Given the description of an element on the screen output the (x, y) to click on. 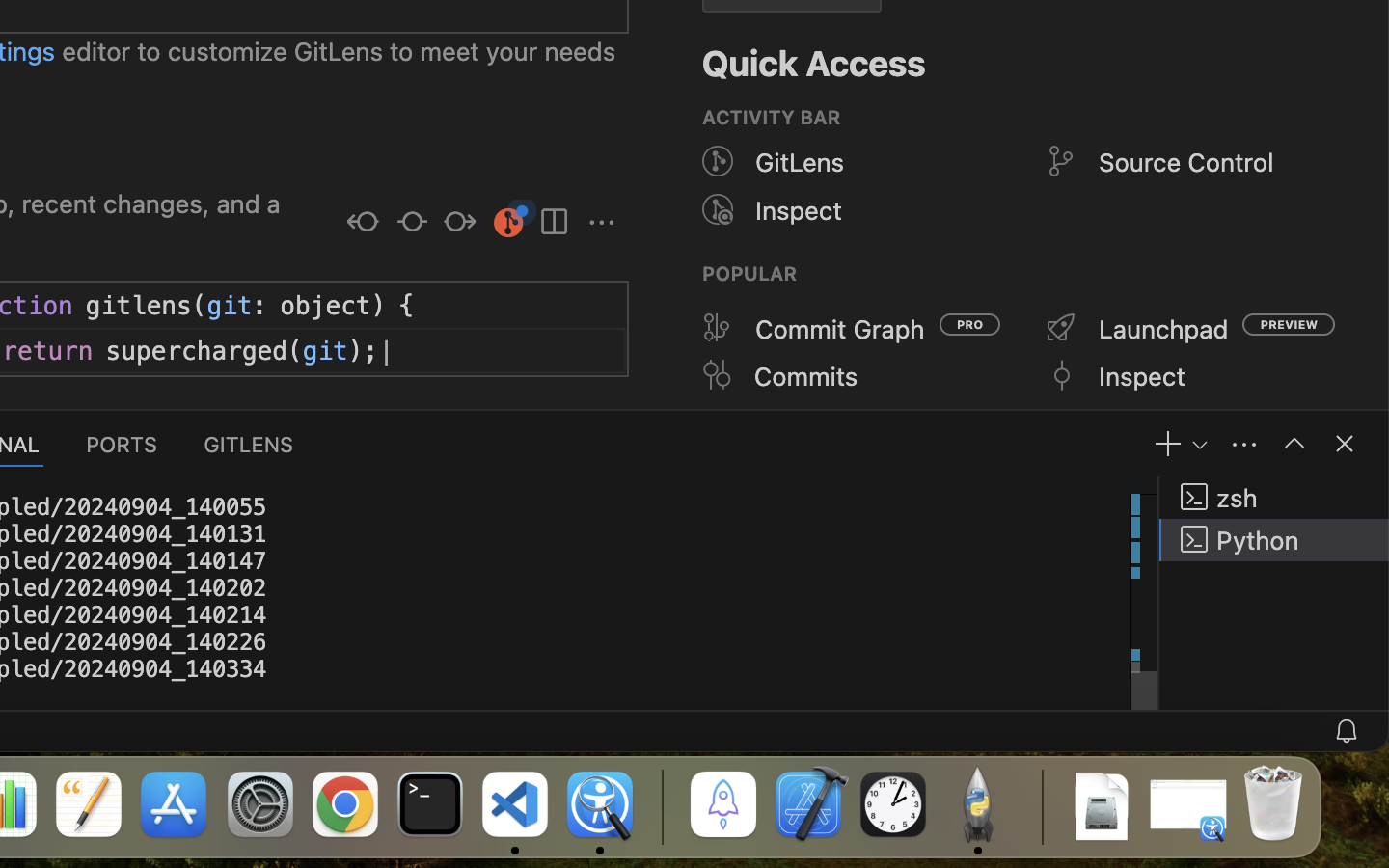
return Element type: AXStaticText (47, 351)
ACTIVITY BAR Element type: AXStaticText (771, 117)
 Element type: AXStaticText (717, 327)
POPULAR Element type: AXStaticText (750, 273)
Commit Graph Element type: AXStaticText (841, 328)
